Given the description of an element on the screen output the (x, y) to click on. 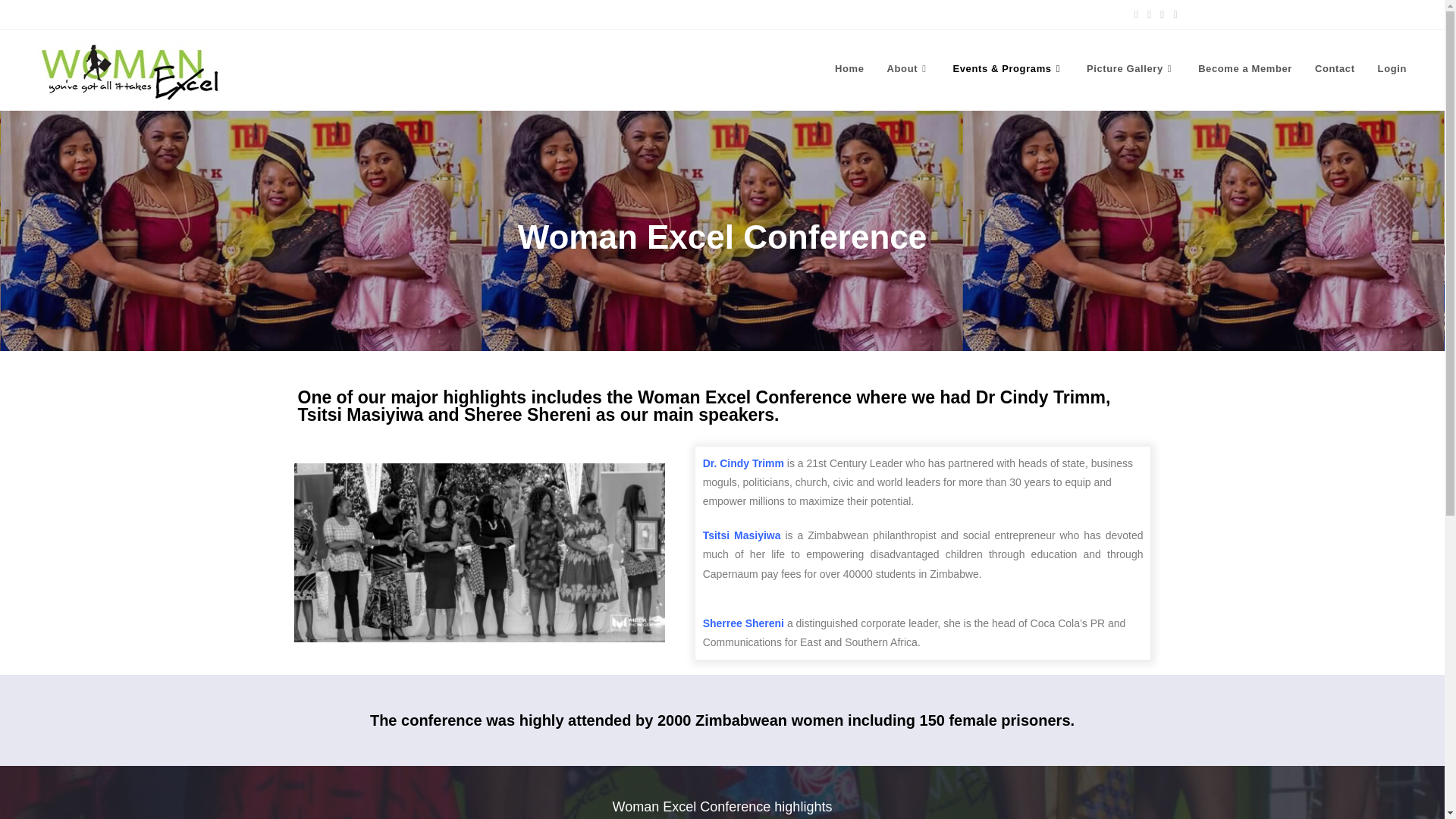
Become a Member (1244, 68)
Login (1392, 68)
About (909, 68)
Contact (1335, 68)
Home (850, 68)
Picture Gallery (1130, 68)
